Given the description of an element on the screen output the (x, y) to click on. 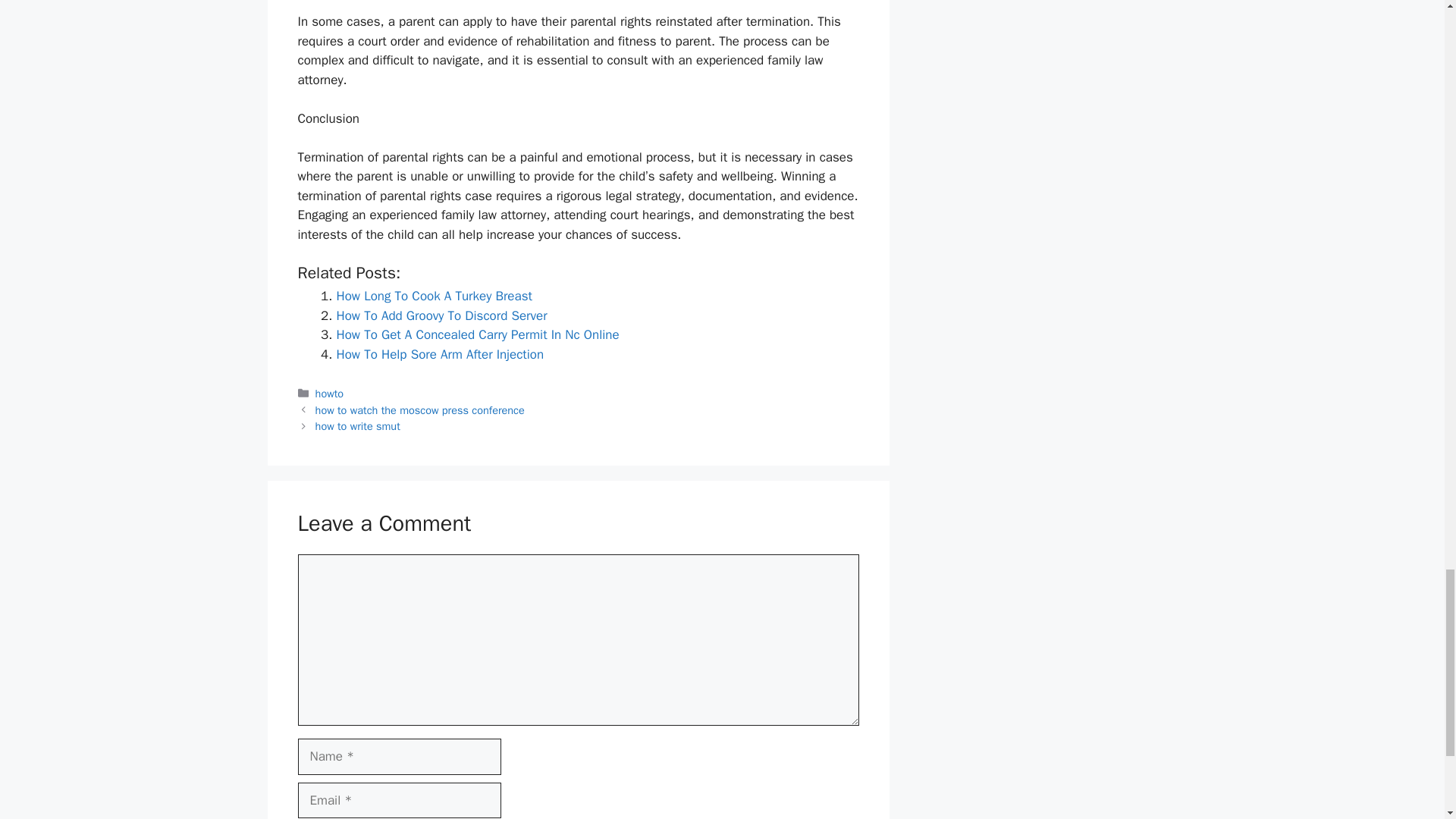
How Long To Cook A Turkey Breast (434, 295)
How To Get A Concealed Carry Permit In Nc Online (478, 334)
How Long To Cook A Turkey Breast (434, 295)
How To Add Groovy To Discord Server (441, 315)
How To Add Groovy To Discord Server (441, 315)
How To Get A Concealed Carry Permit In Nc Online (478, 334)
how to watch the moscow press conference (419, 409)
How To Help Sore Arm After Injection (440, 354)
howto (329, 393)
How To Help Sore Arm After Injection (440, 354)
how to write smut (357, 426)
